Given the description of an element on the screen output the (x, y) to click on. 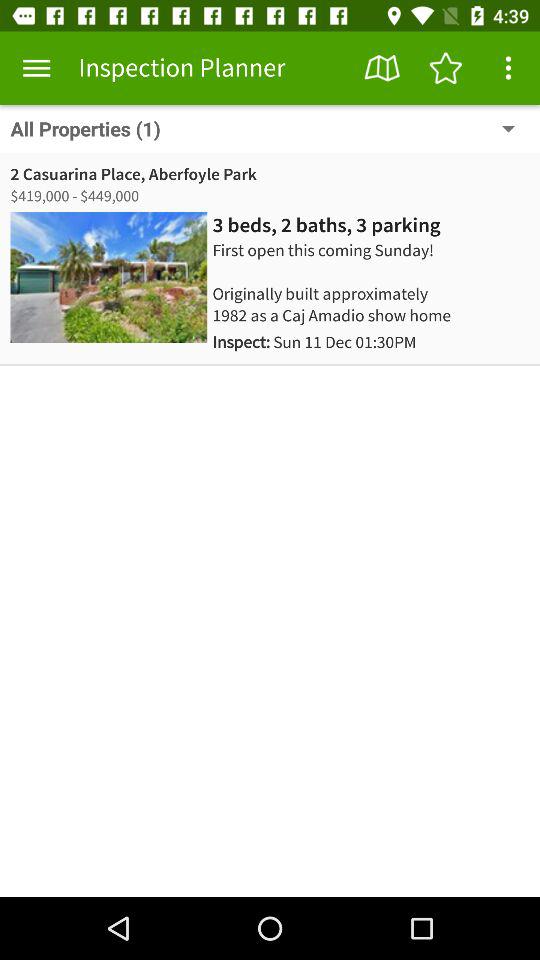
open the inspect sun 11 icon (314, 342)
